Given the description of an element on the screen output the (x, y) to click on. 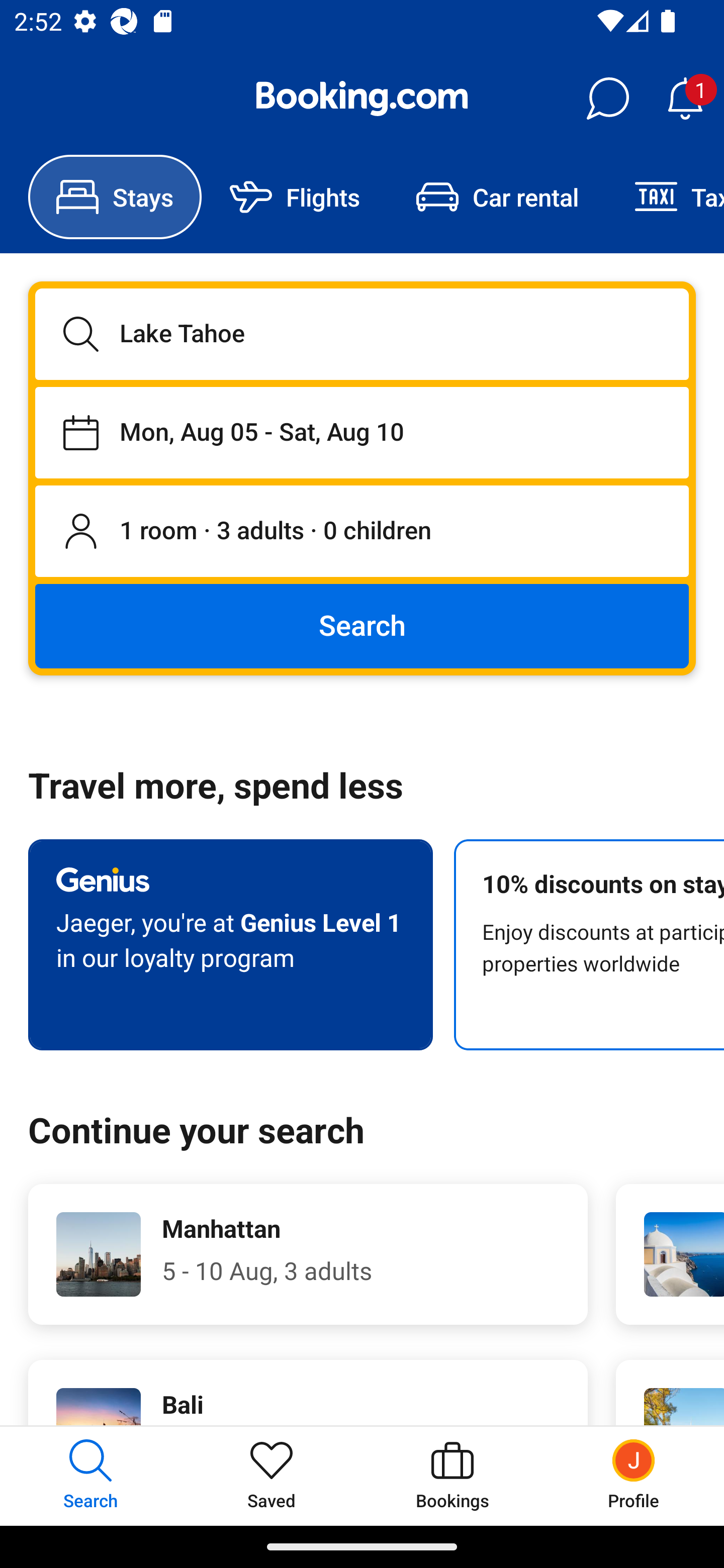
Messages (607, 98)
Notifications (685, 98)
Stays (114, 197)
Flights (294, 197)
Car rental (497, 197)
Taxi (665, 197)
Lake Tahoe (361, 333)
Staying from Mon, Aug 05 until Sat, Aug 10 (361, 432)
1 room, 3 adults, 0 children (361, 531)
Search (361, 625)
Manhattan 5 - 10 Aug, 3 adults (307, 1253)
Saved (271, 1475)
Bookings (452, 1475)
Profile (633, 1475)
